Given the description of an element on the screen output the (x, y) to click on. 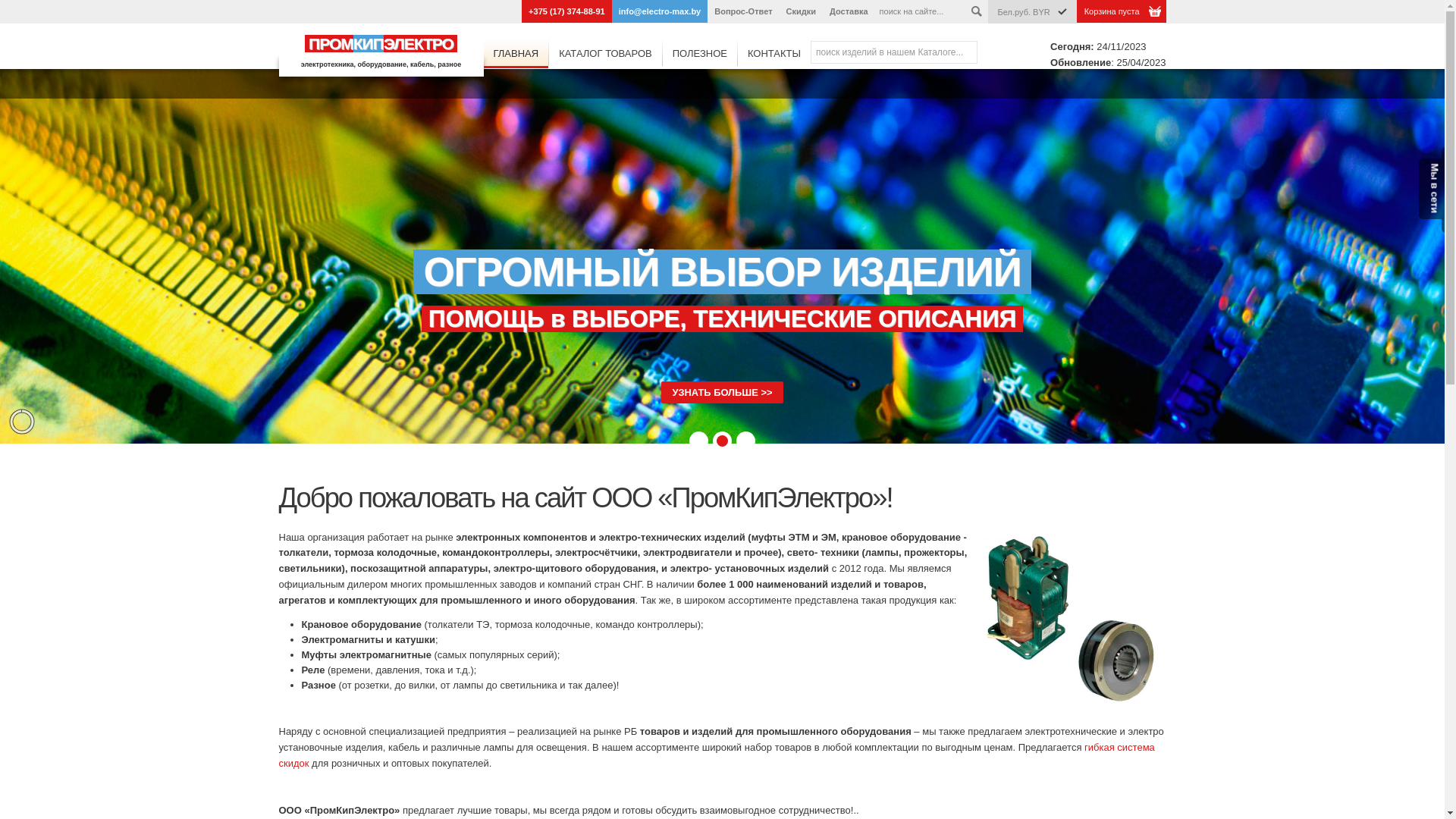
+375 (17) 374-88-91 Element type: text (566, 11)
info@electro-max.by Element type: text (659, 11)
Change Currency Element type: text (1062, 11)
